Given the description of an element on the screen output the (x, y) to click on. 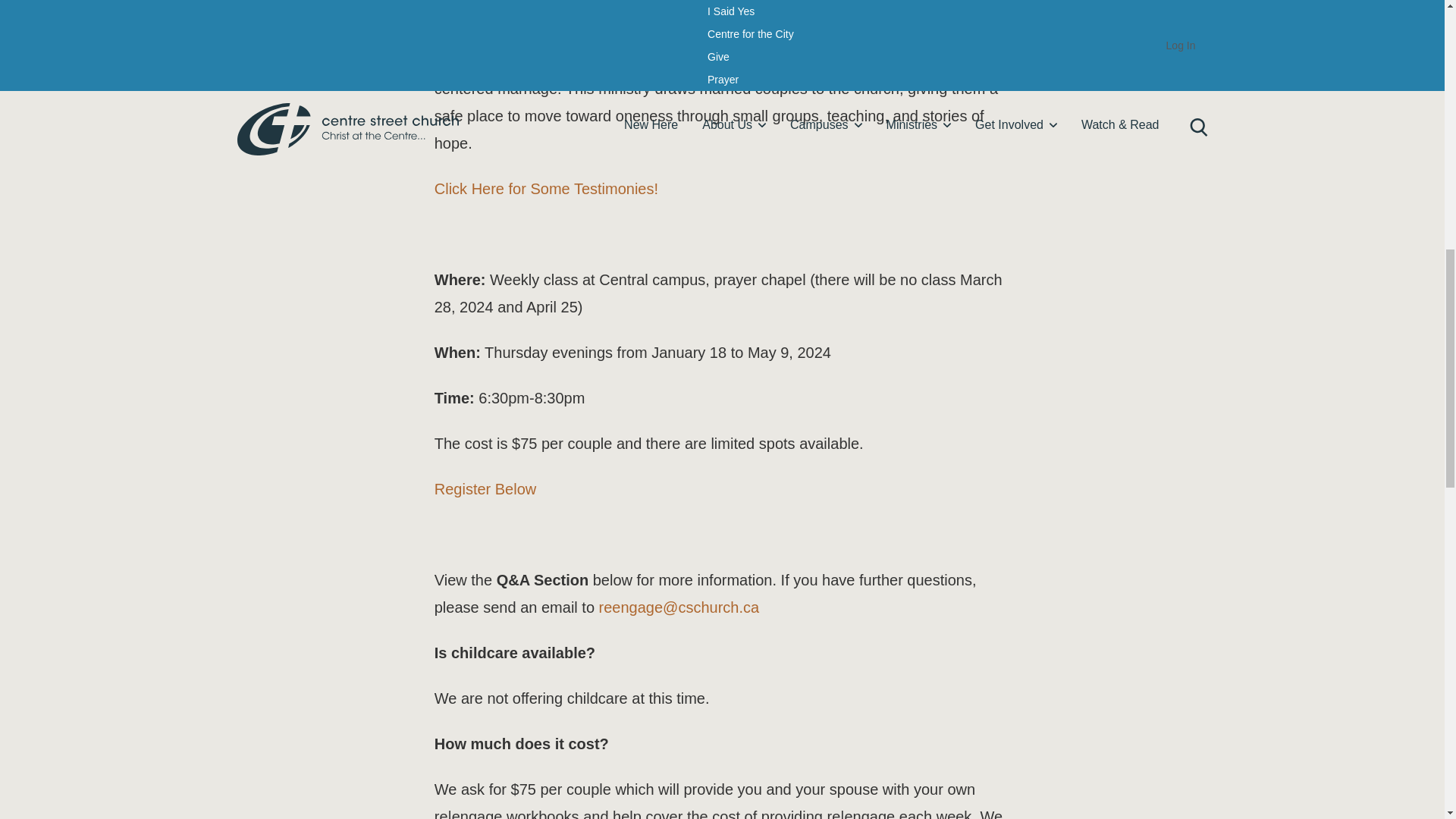
Click Here for Some Testimonies! (545, 188)
